Given the description of an element on the screen output the (x, y) to click on. 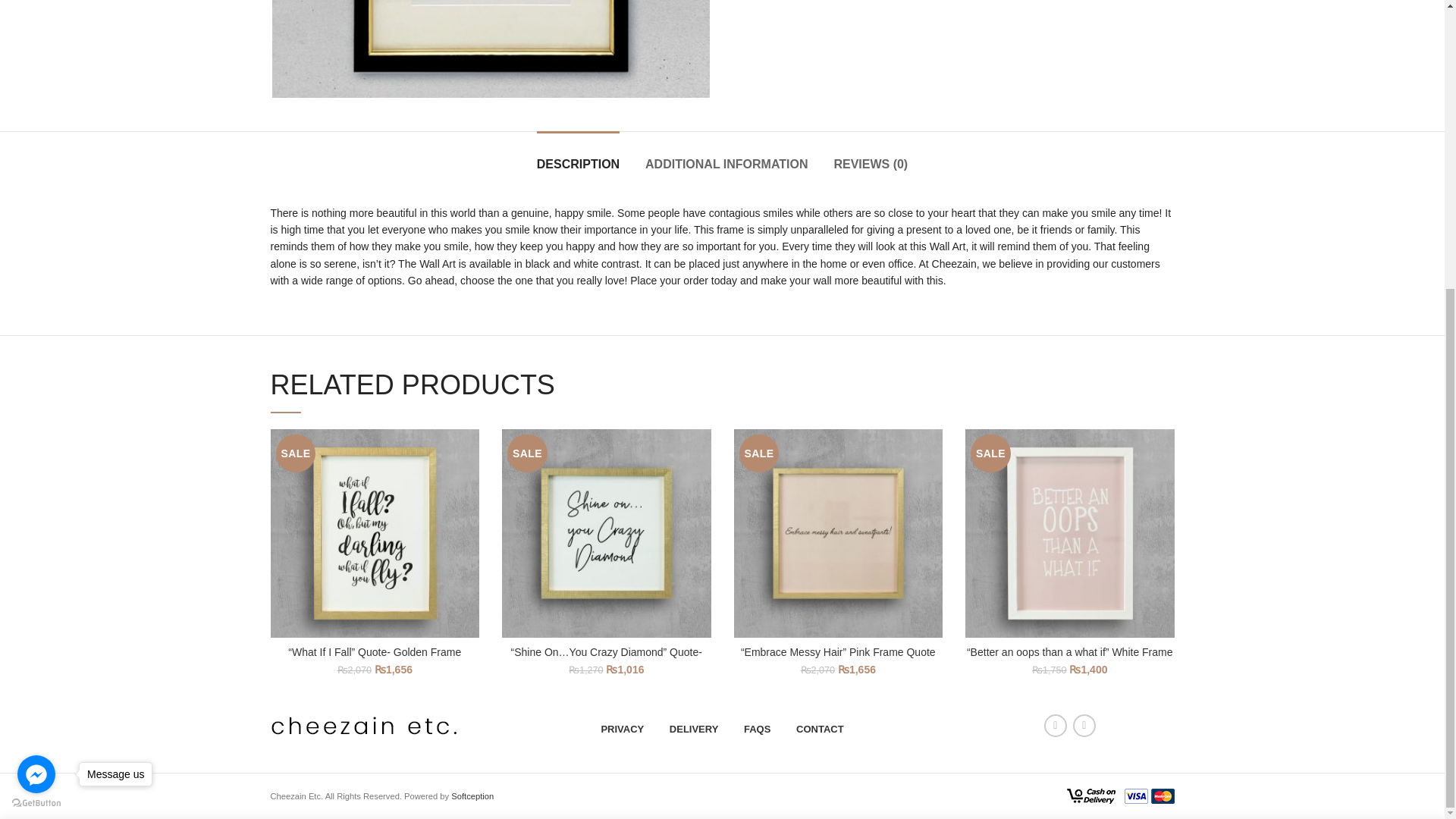
You-Make-Me-Smile (489, 48)
